Given the description of an element on the screen output the (x, y) to click on. 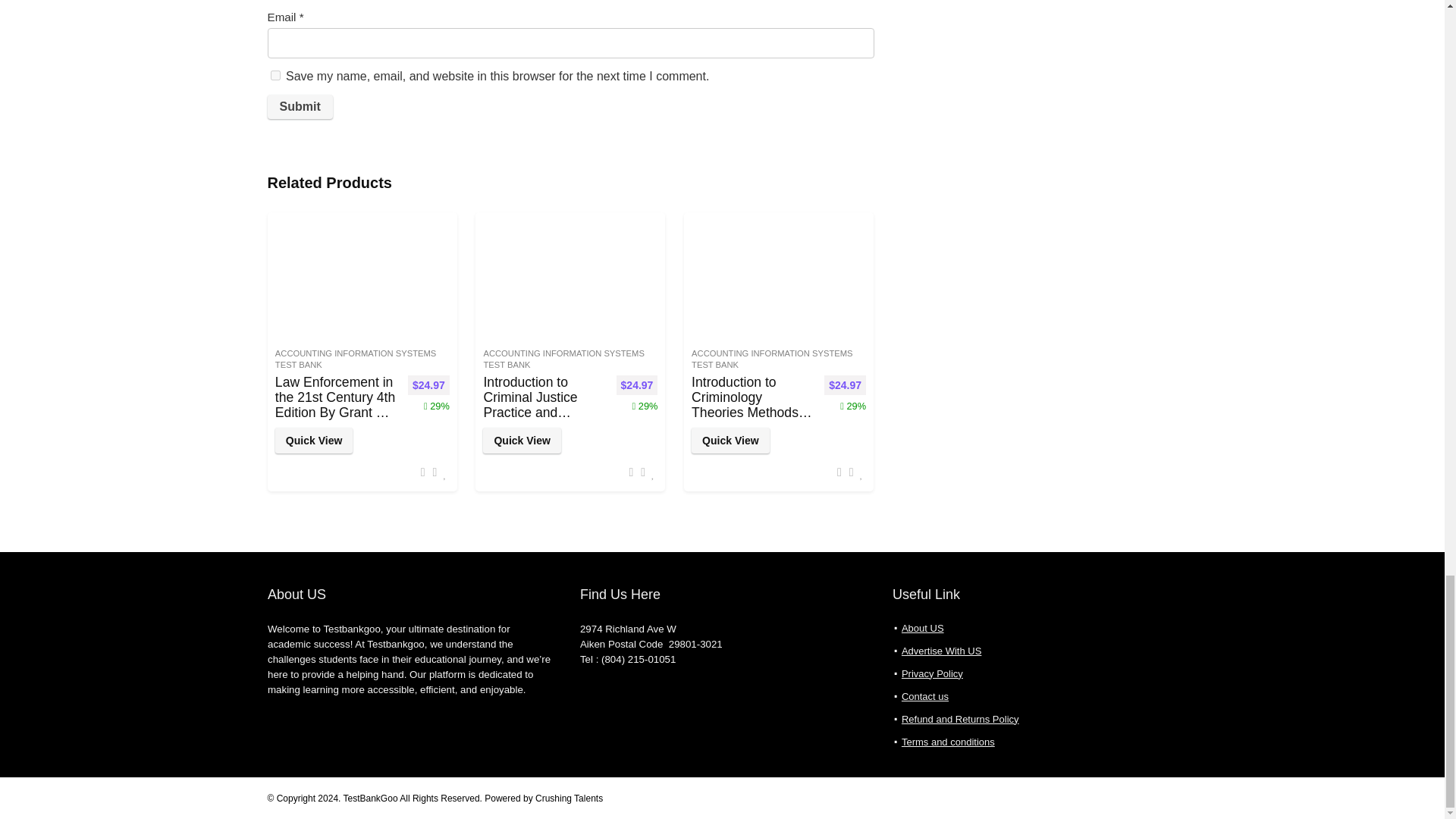
Submit (298, 106)
yes (274, 75)
Submit (298, 106)
